Given the description of an element on the screen output the (x, y) to click on. 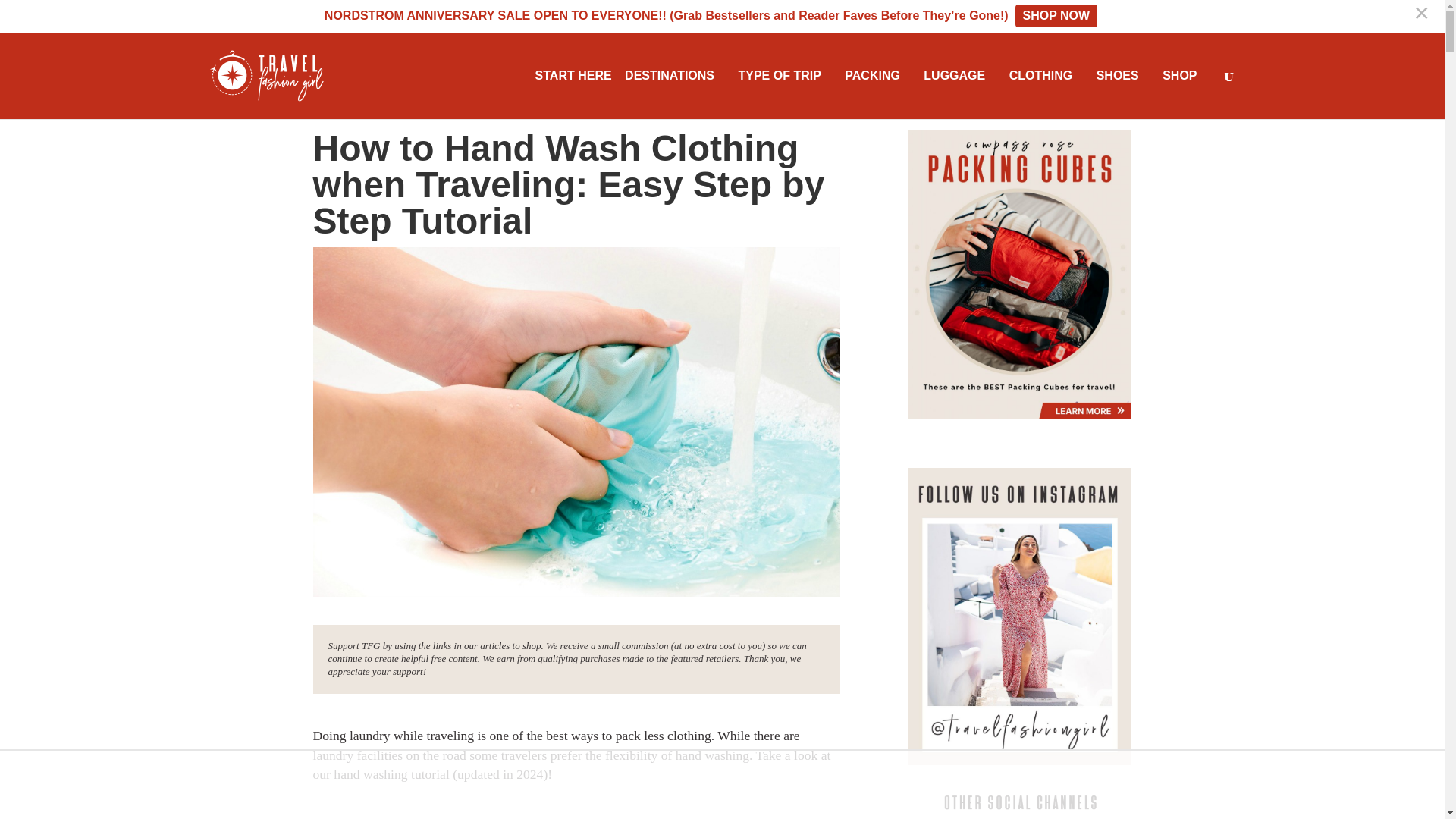
LUGGAGE (959, 75)
PACKING (877, 75)
SHOP NOW (1055, 15)
START HERE (573, 75)
TYPE OF TRIP (784, 75)
DESTINATIONS (674, 75)
